Given the description of an element on the screen output the (x, y) to click on. 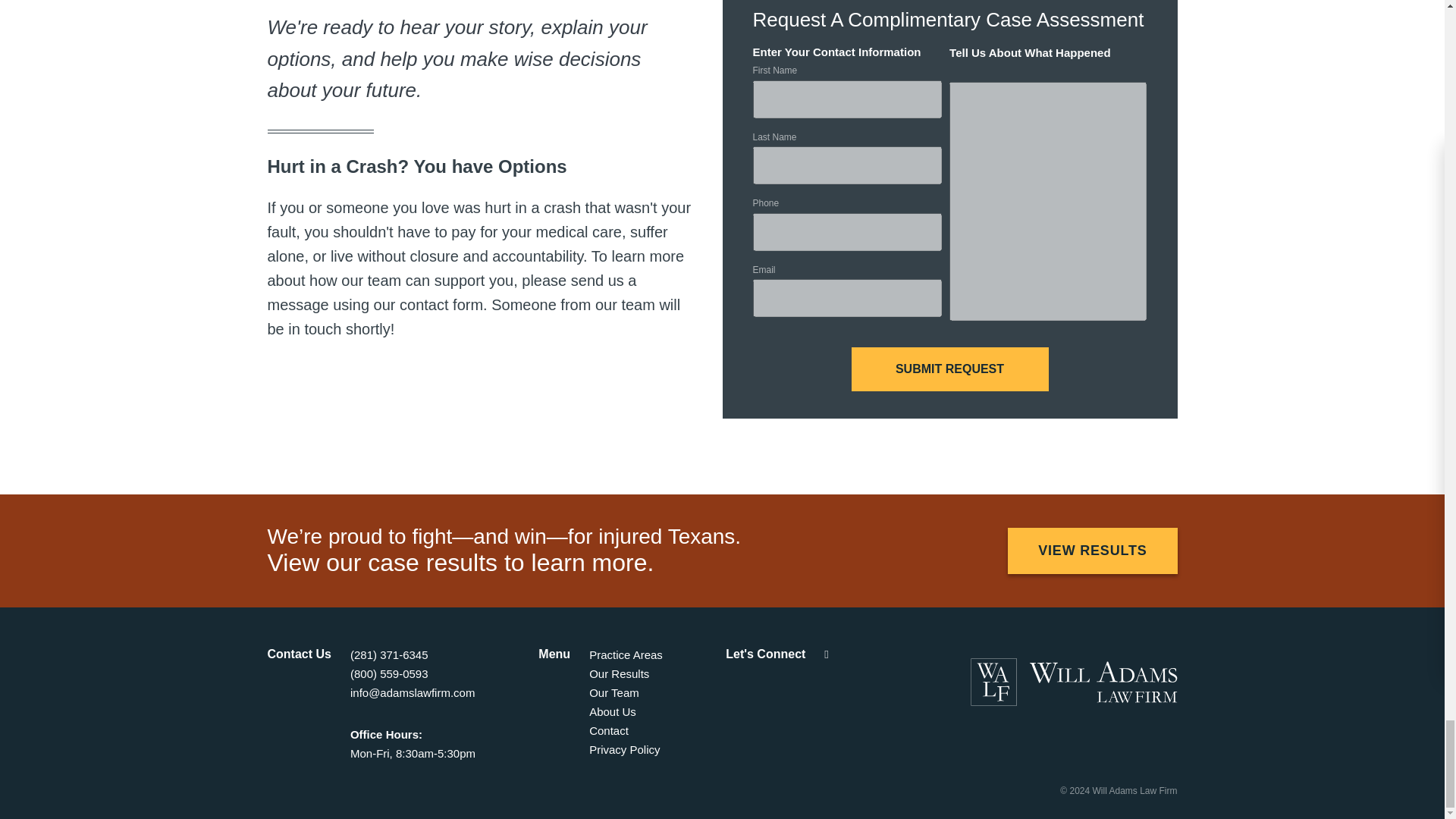
Submit Request (949, 369)
